Given the description of an element on the screen output the (x, y) to click on. 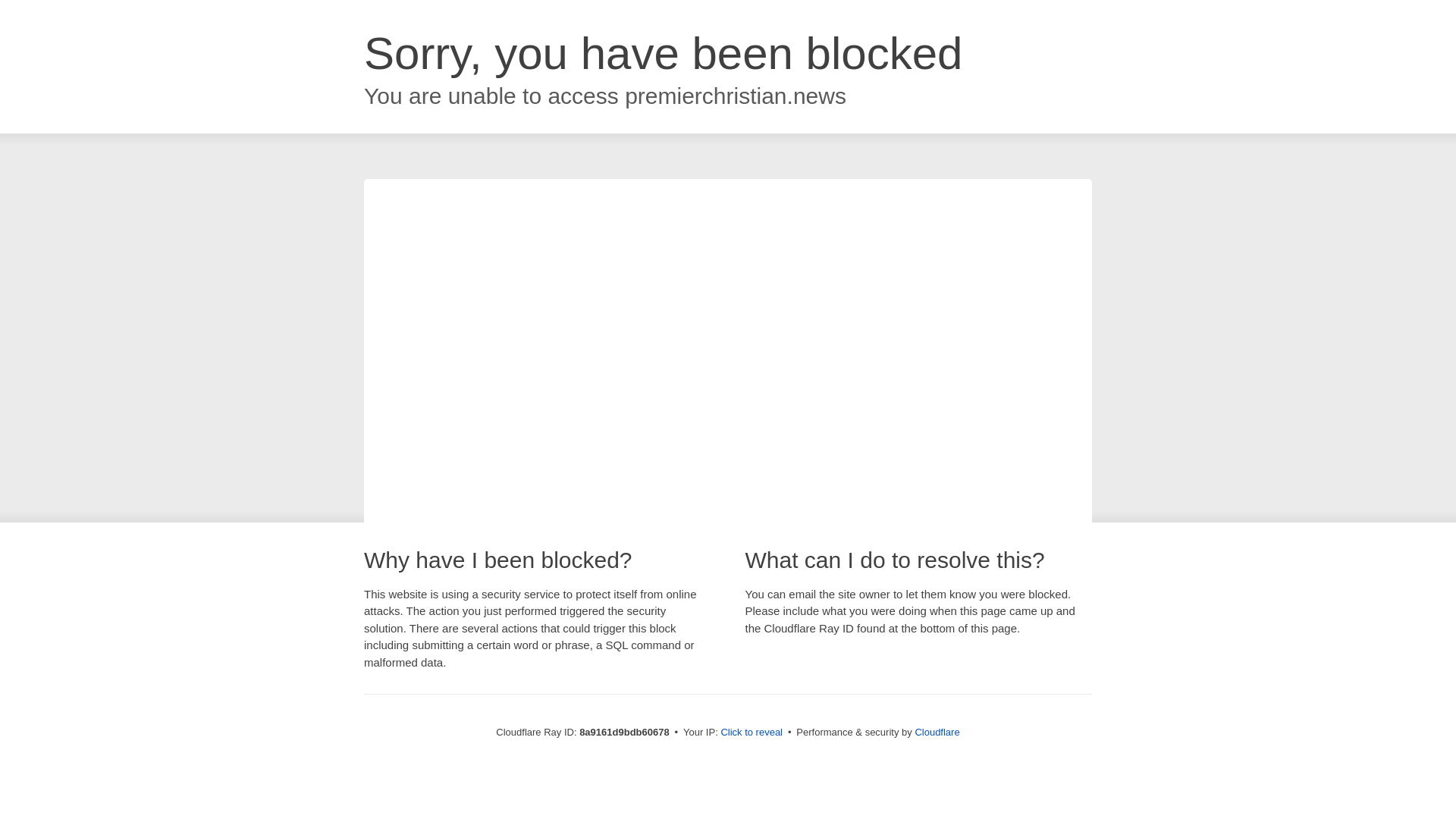
Cloudflare (936, 731)
Click to reveal (751, 732)
